Given the description of an element on the screen output the (x, y) to click on. 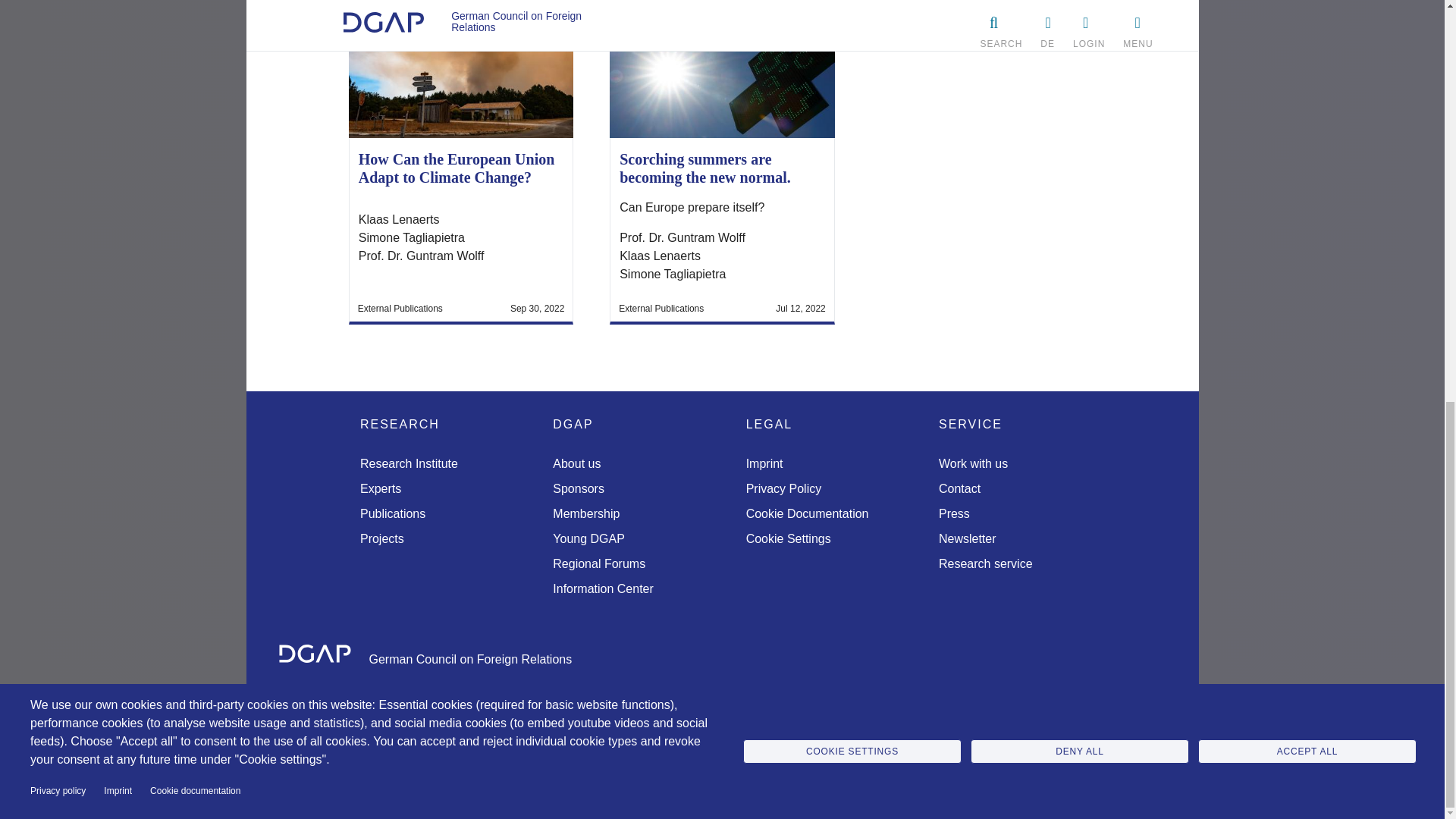
Cookie documentation (194, 6)
Home (318, 656)
Imprint (117, 6)
Privacy policy (57, 6)
